Given the description of an element on the screen output the (x, y) to click on. 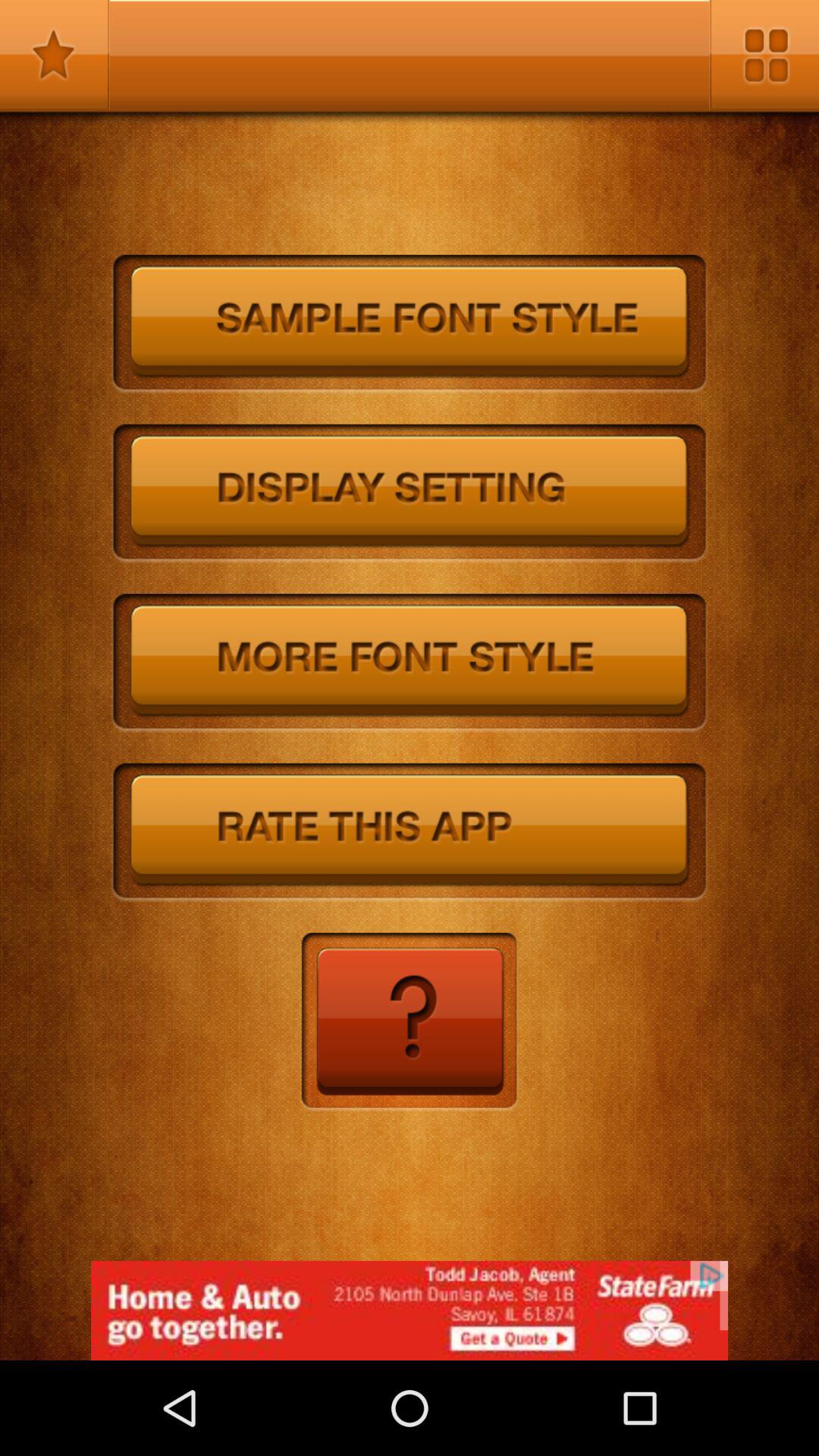
ratethisapp (409, 832)
